Given the description of an element on the screen output the (x, y) to click on. 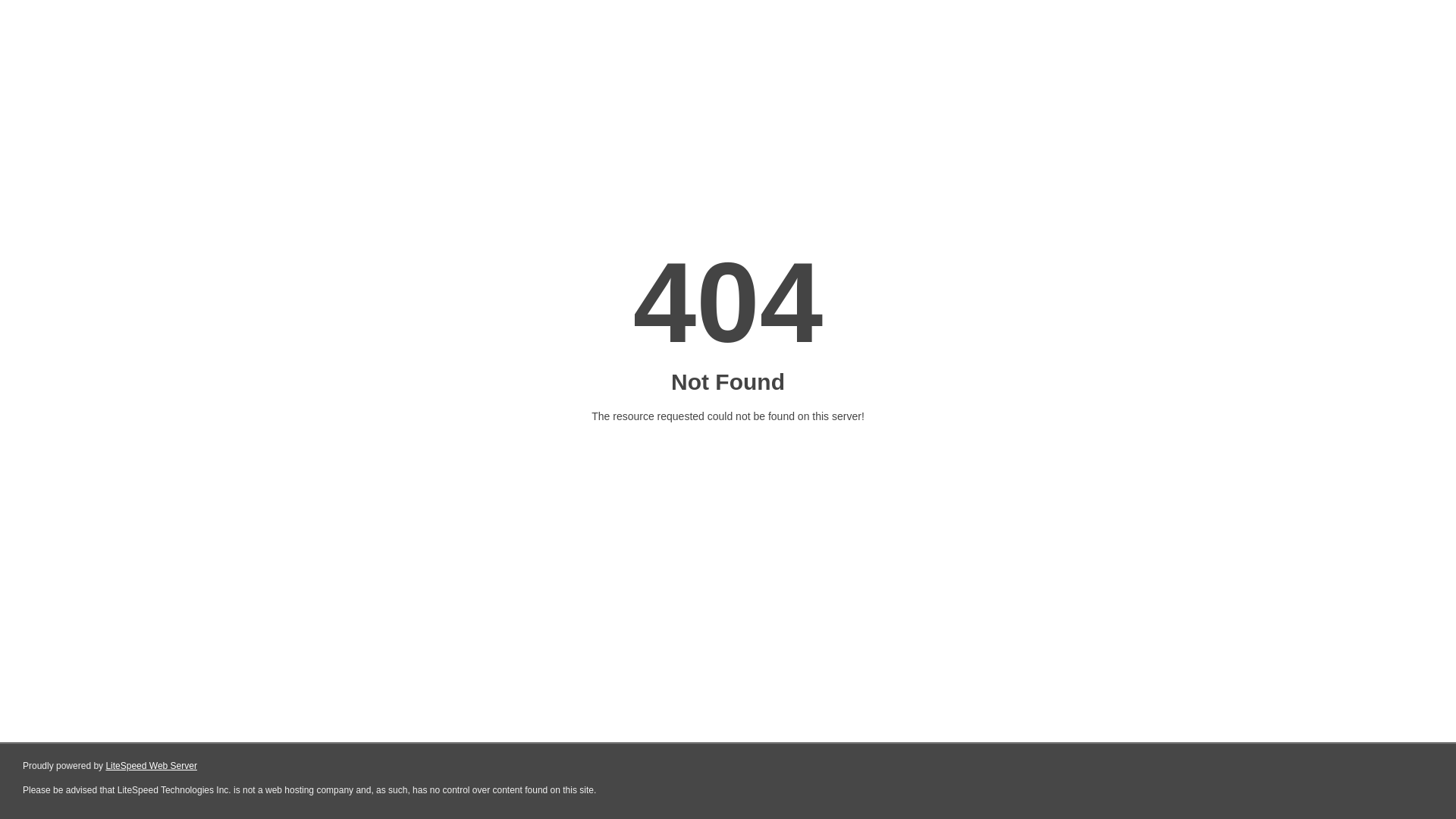
LiteSpeed Web Server Element type: text (151, 765)
